Given the description of an element on the screen output the (x, y) to click on. 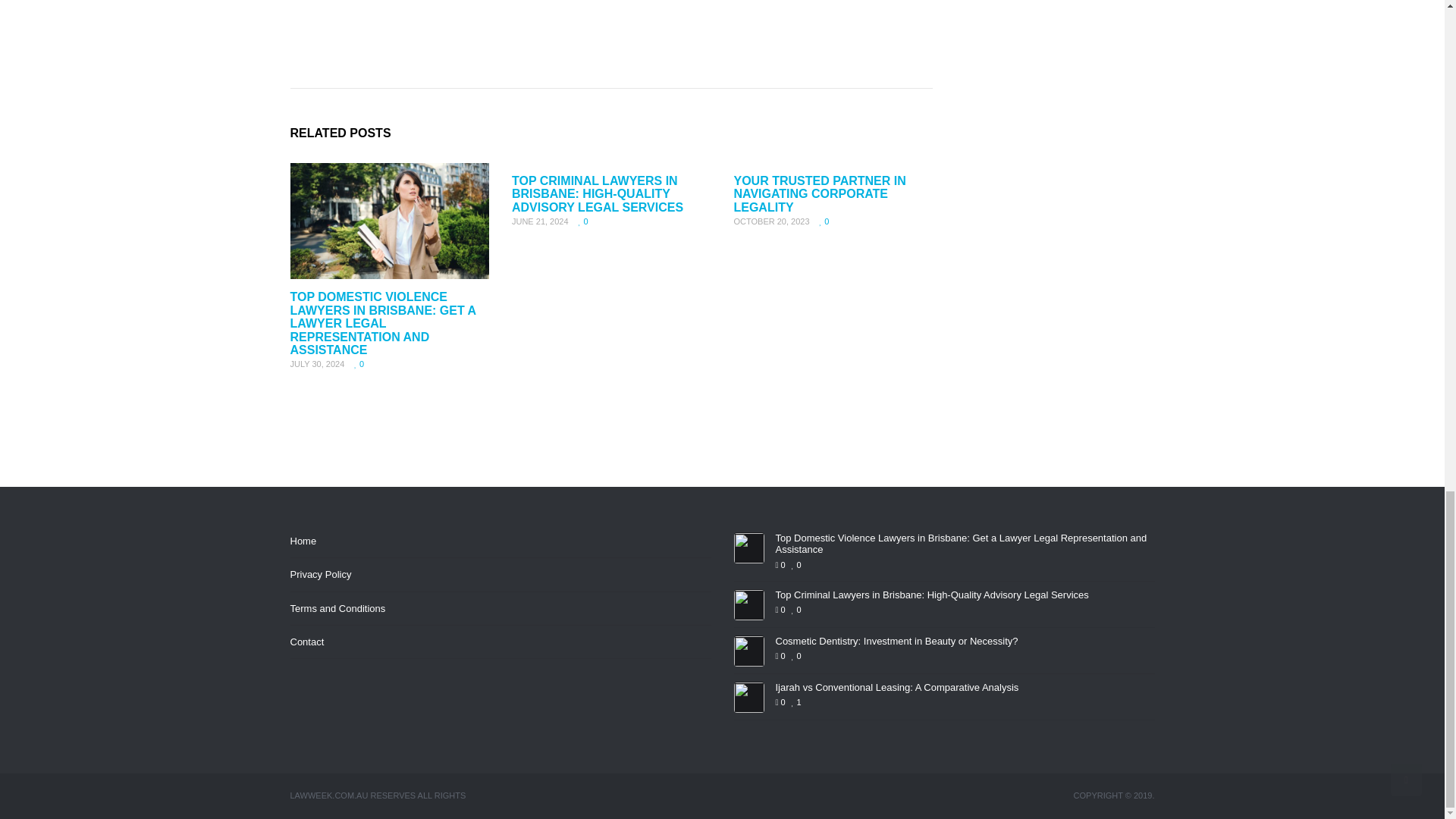
YOUR TRUSTED PARTNER IN NAVIGATING CORPORATE LEGALITY (819, 193)
0 (583, 221)
0 (358, 363)
0 (824, 221)
